Given the description of an element on the screen output the (x, y) to click on. 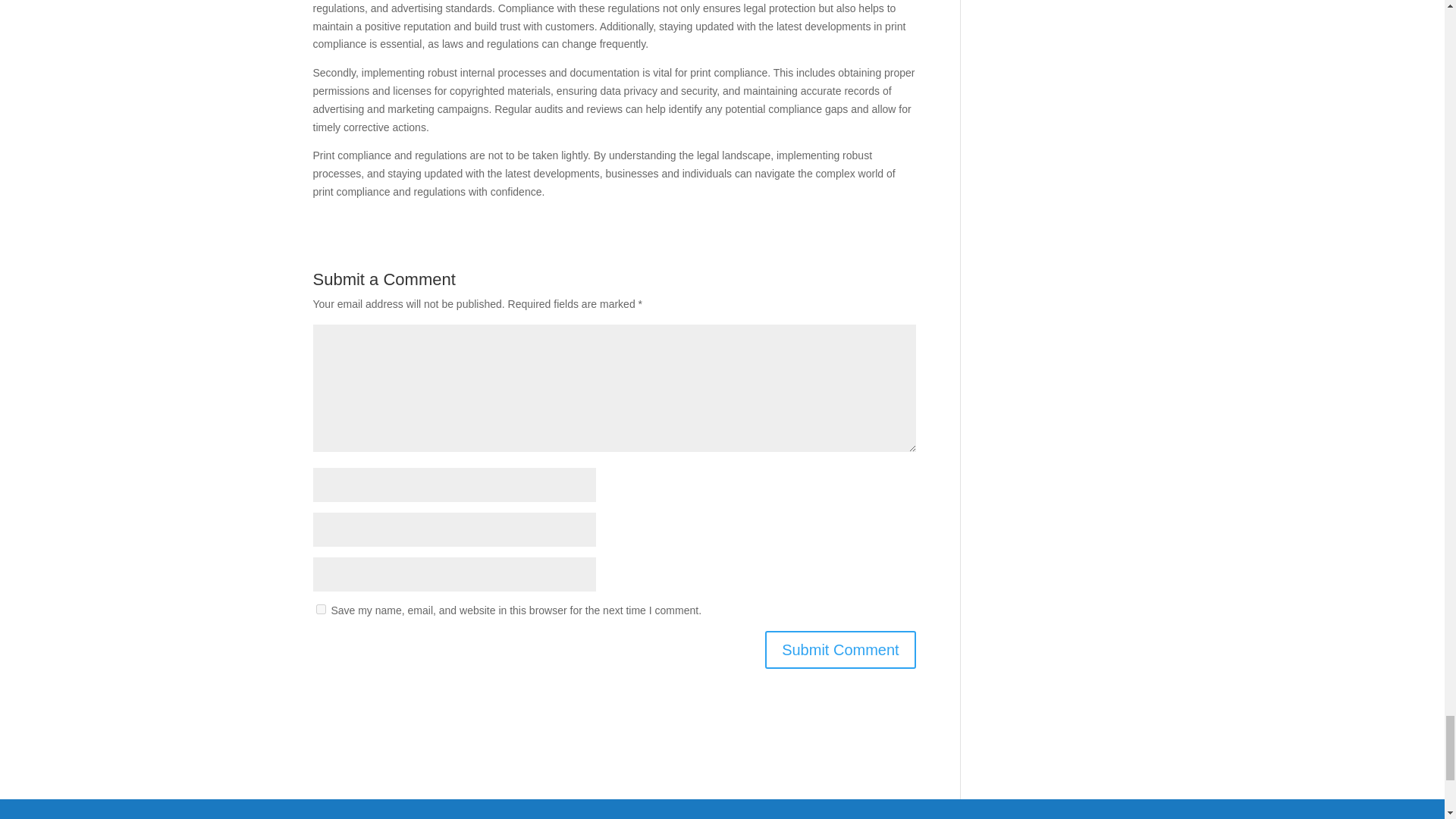
Submit Comment (840, 649)
yes (319, 609)
Submit Comment (840, 649)
